Given the description of an element on the screen output the (x, y) to click on. 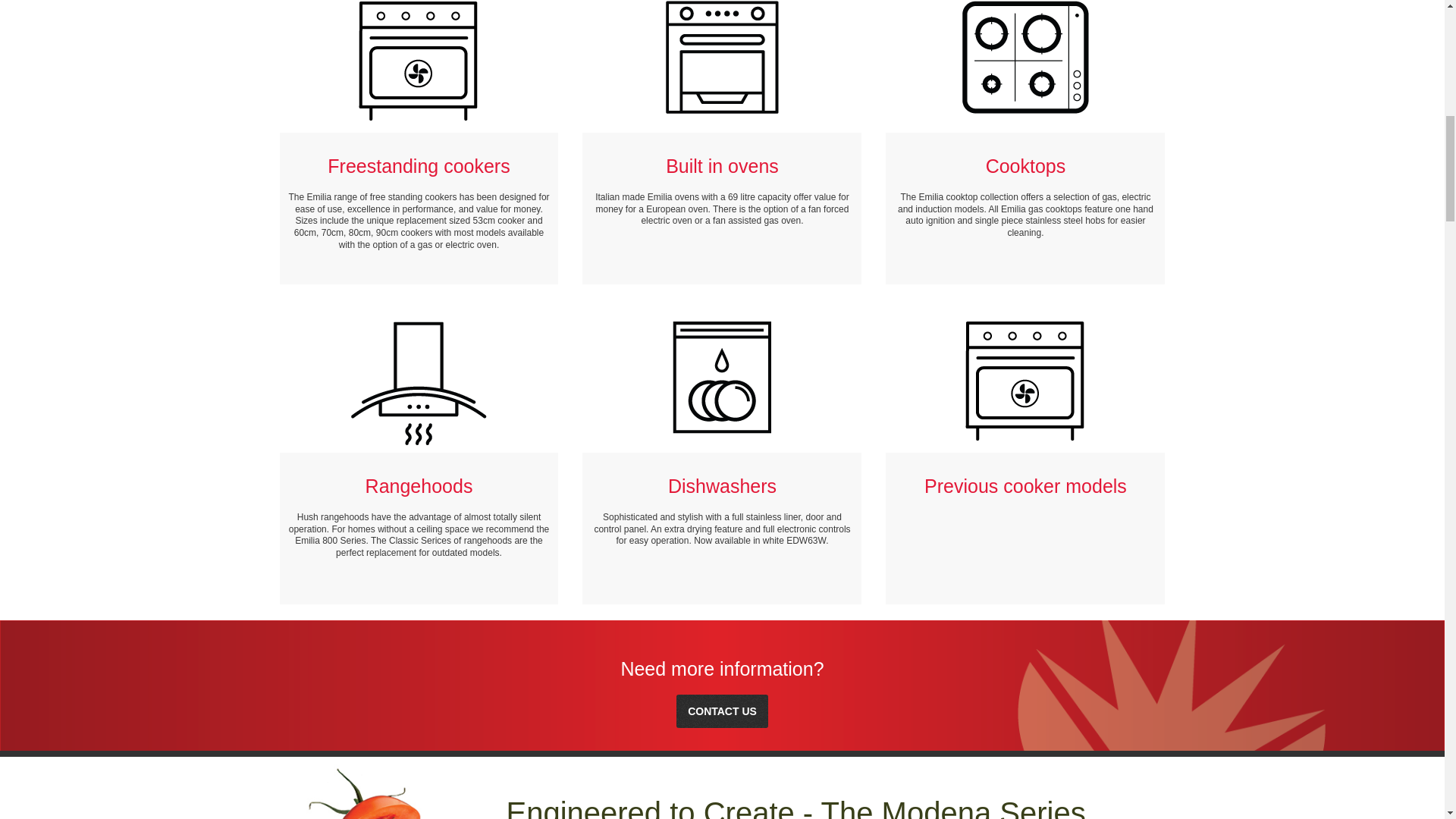
CONTACT US (722, 711)
